Given the description of an element on the screen output the (x, y) to click on. 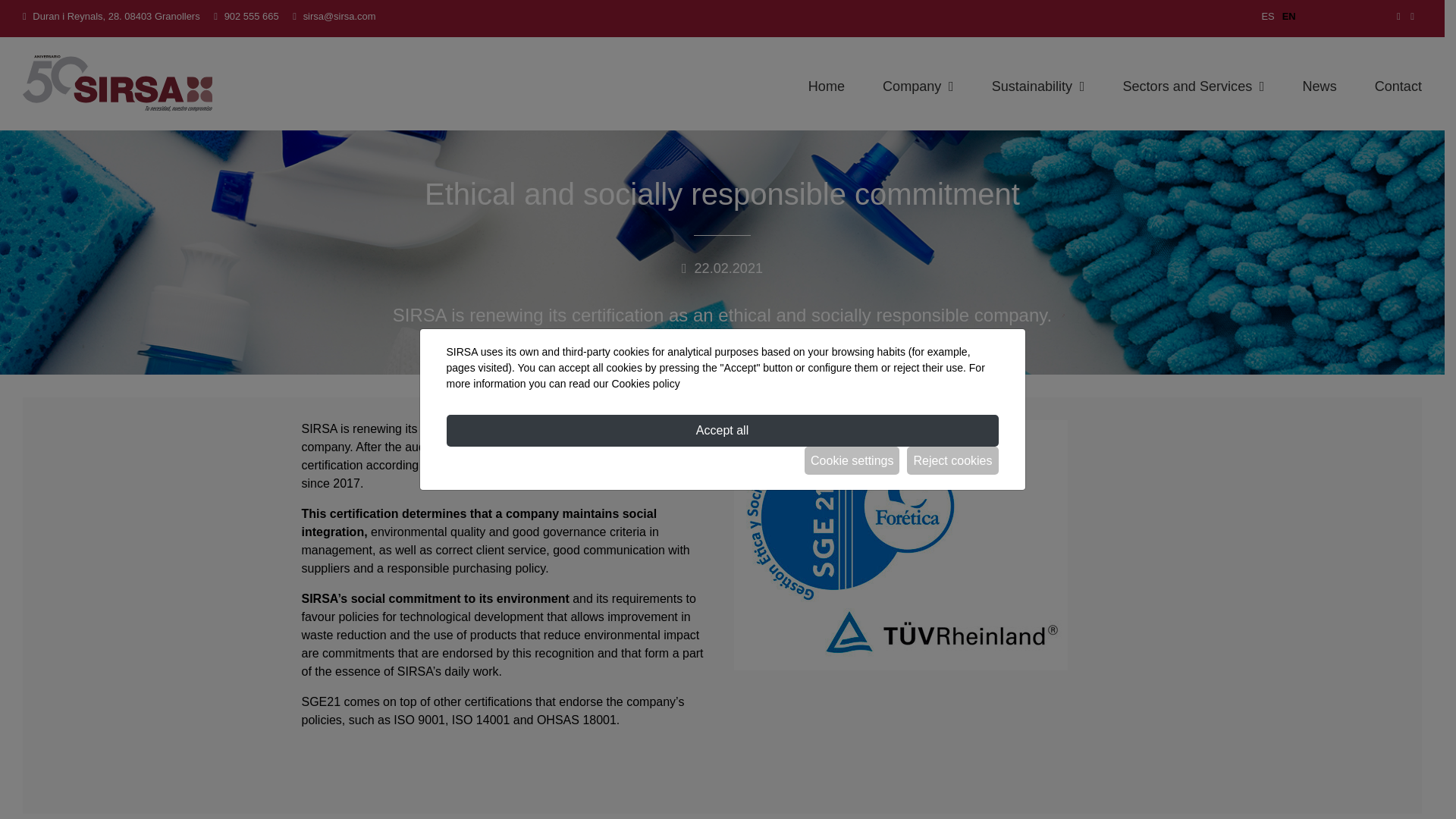
ES (1267, 16)
EN (1288, 16)
Contact (1398, 86)
902 555 665 (251, 16)
Home (826, 86)
